Given the description of an element on the screen output the (x, y) to click on. 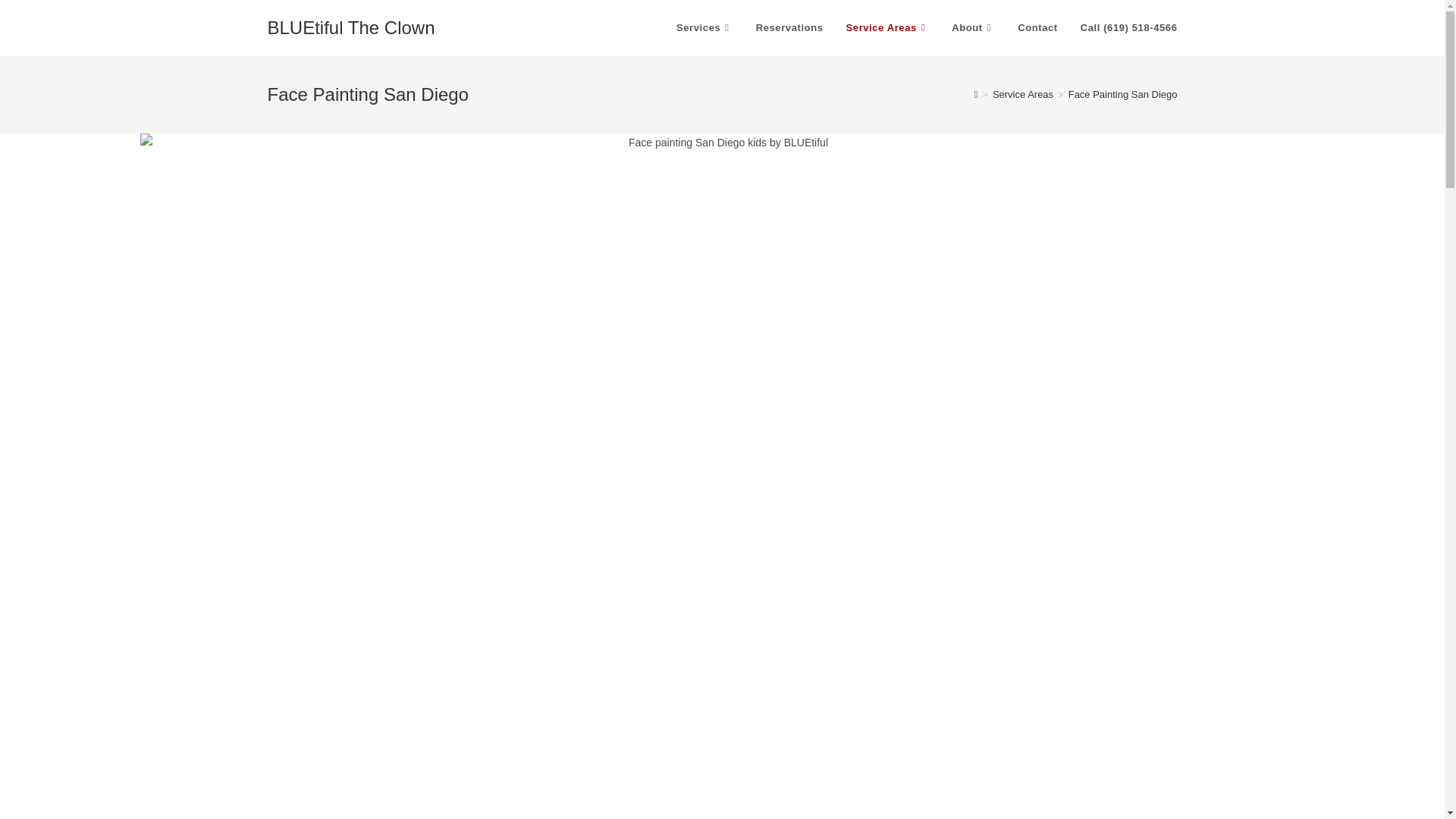
Service Areas (1022, 93)
About (973, 28)
BLUEtiful The Clown (349, 27)
Reservations (789, 28)
Service Areas (887, 28)
Services (704, 28)
Face Painting San Diego (1122, 93)
Contact (1037, 28)
